Given the description of an element on the screen output the (x, y) to click on. 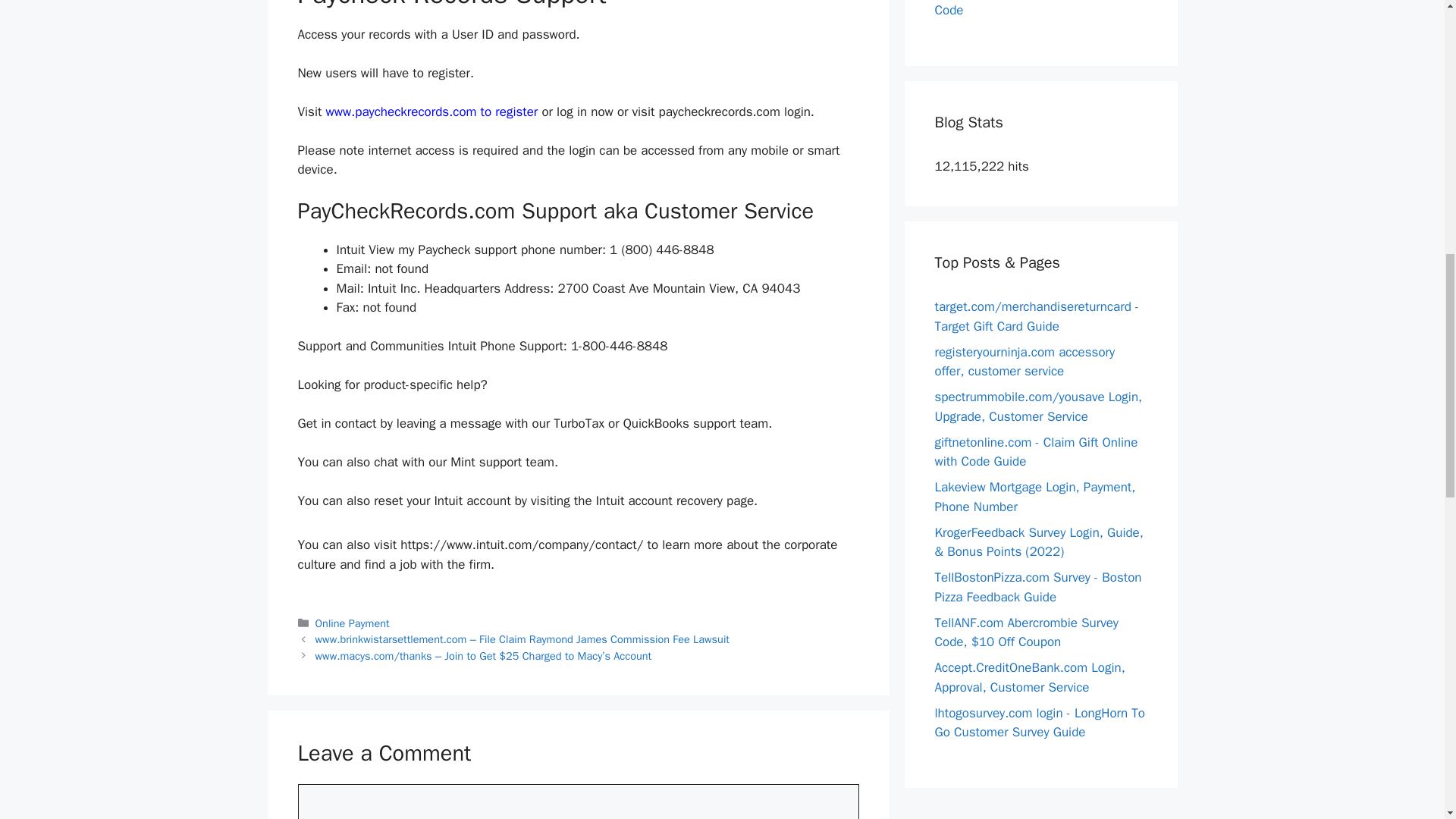
Online Payment (352, 622)
Accept.CreditOneBank.com Login, Approval, Customer Service (1029, 677)
TellBostonPizza.com Survey - Boston Pizza Feedback Guide (1037, 587)
Lakeview Mortgage Login, Payment, Phone Number (1034, 497)
Scroll back to top (1406, 720)
registeryourninja.com accessory offer, customer service (1024, 361)
giftnetonline.com - Claim Gift Online with Code Guide (1035, 451)
